Given the description of an element on the screen output the (x, y) to click on. 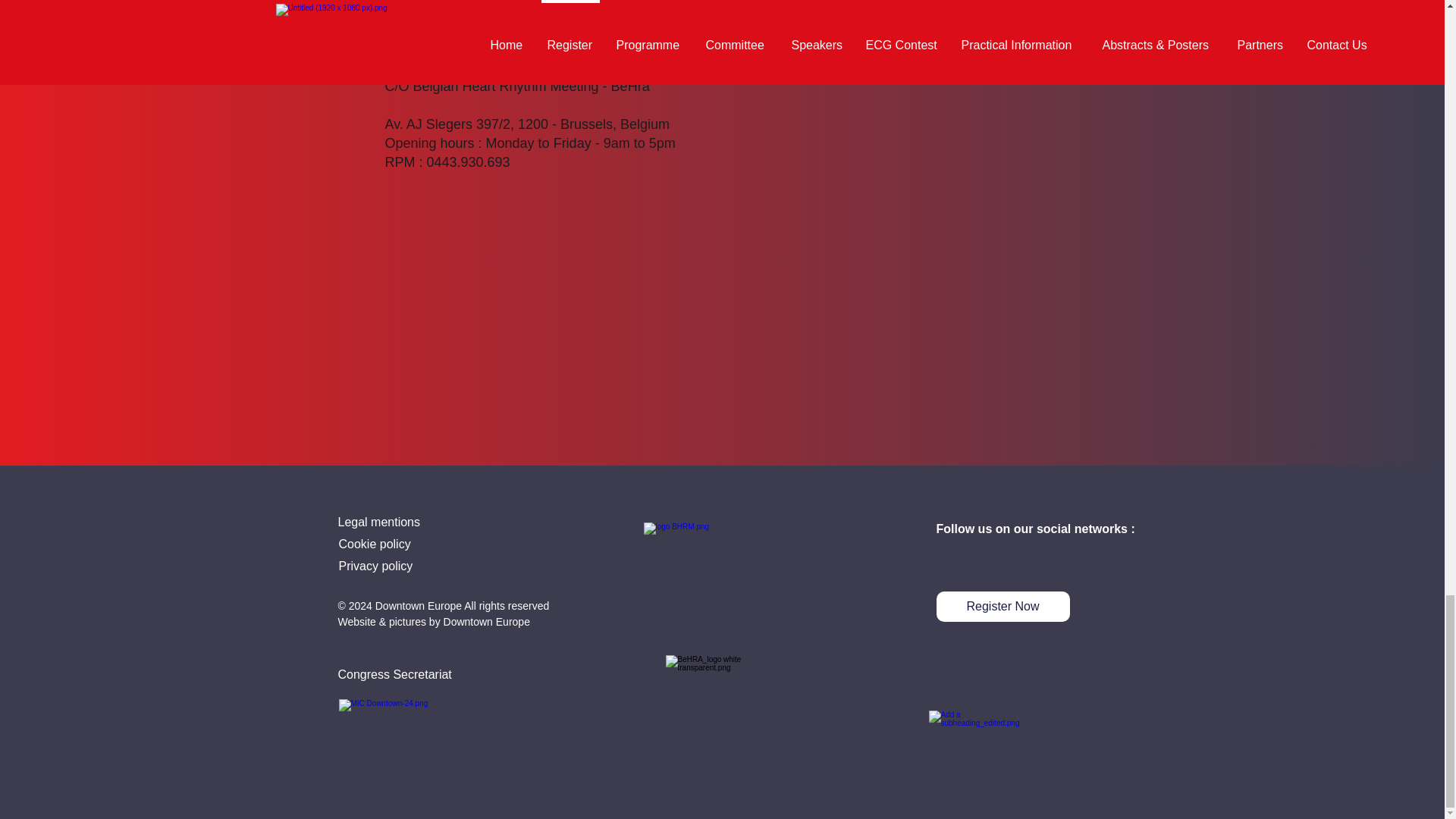
Legal mentions (378, 521)
Privacy policy (374, 565)
Register Now (1002, 606)
Cookie policy (373, 543)
